Given the description of an element on the screen output the (x, y) to click on. 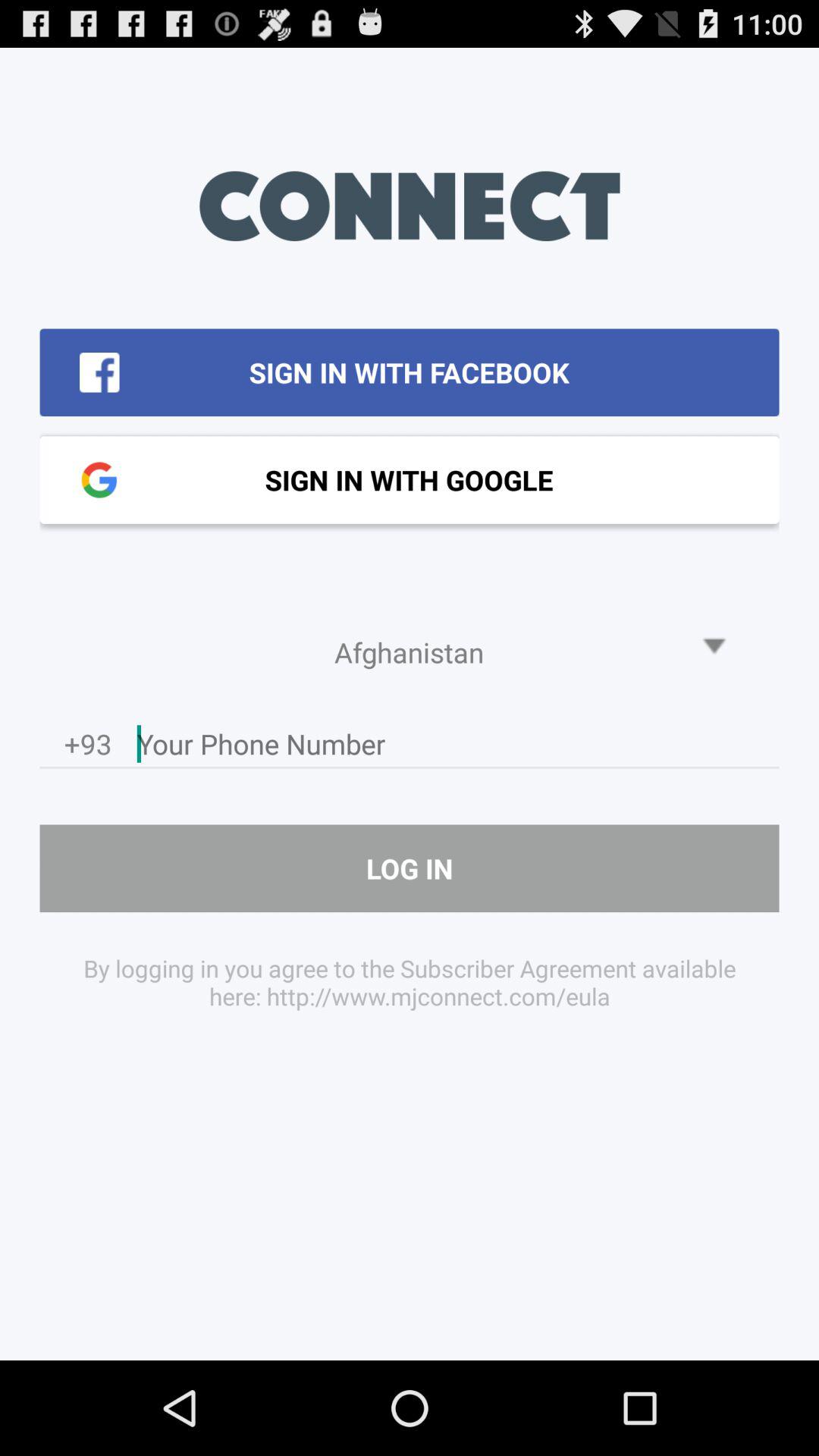
turn off the icon above by logging in icon (409, 868)
